Given the description of an element on the screen output the (x, y) to click on. 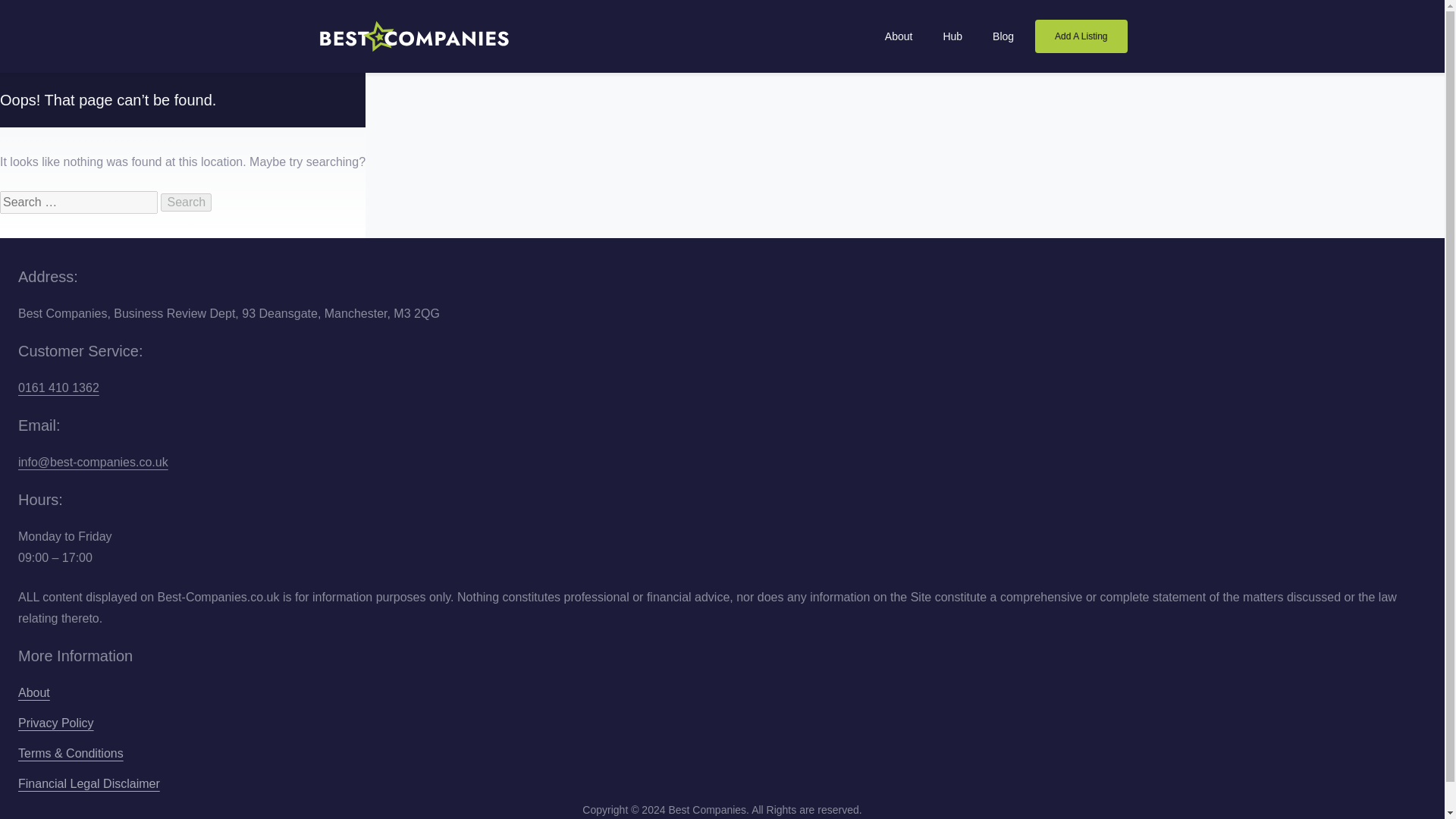
Search for: (78, 201)
Financial Legal Disclaimer (88, 783)
Best Companies (413, 35)
Search (185, 202)
Add A Listing (1080, 36)
0161 410 1362 (58, 387)
About (33, 693)
Search (185, 202)
Privacy Policy (55, 723)
Search (185, 202)
